Given the description of an element on the screen output the (x, y) to click on. 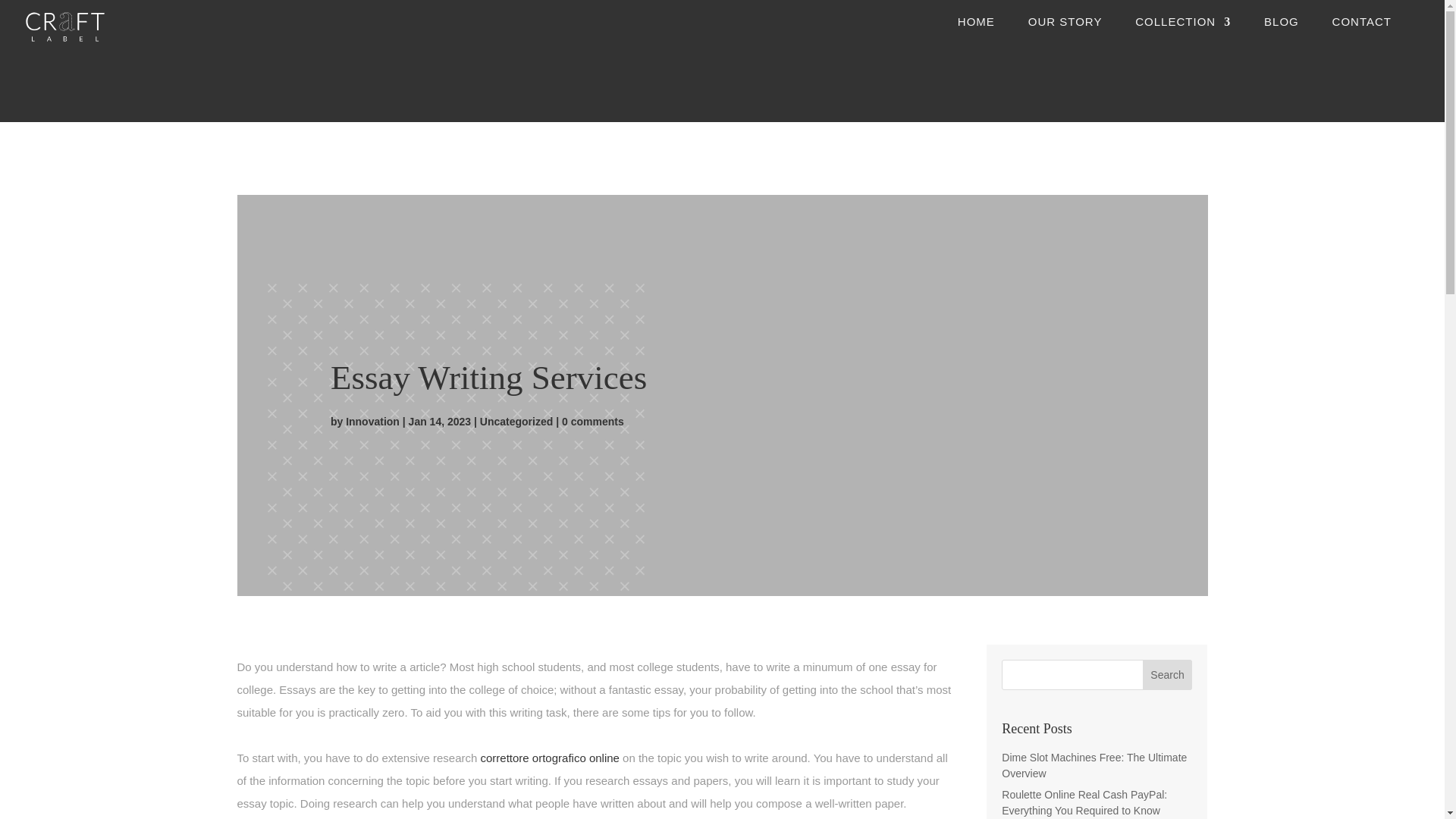
0 comments (593, 421)
Uncategorized (516, 421)
Innovation (372, 421)
Dime Slot Machines Free: The Ultimate Overview (1093, 765)
OUR STORY (1064, 35)
HOME (976, 35)
BLOG (1280, 35)
Search (1167, 675)
COLLECTION (1182, 35)
CONTACT (1361, 35)
correttore ortografico online (550, 757)
Posts by Innovation (372, 421)
Search (1167, 675)
